Given the description of an element on the screen output the (x, y) to click on. 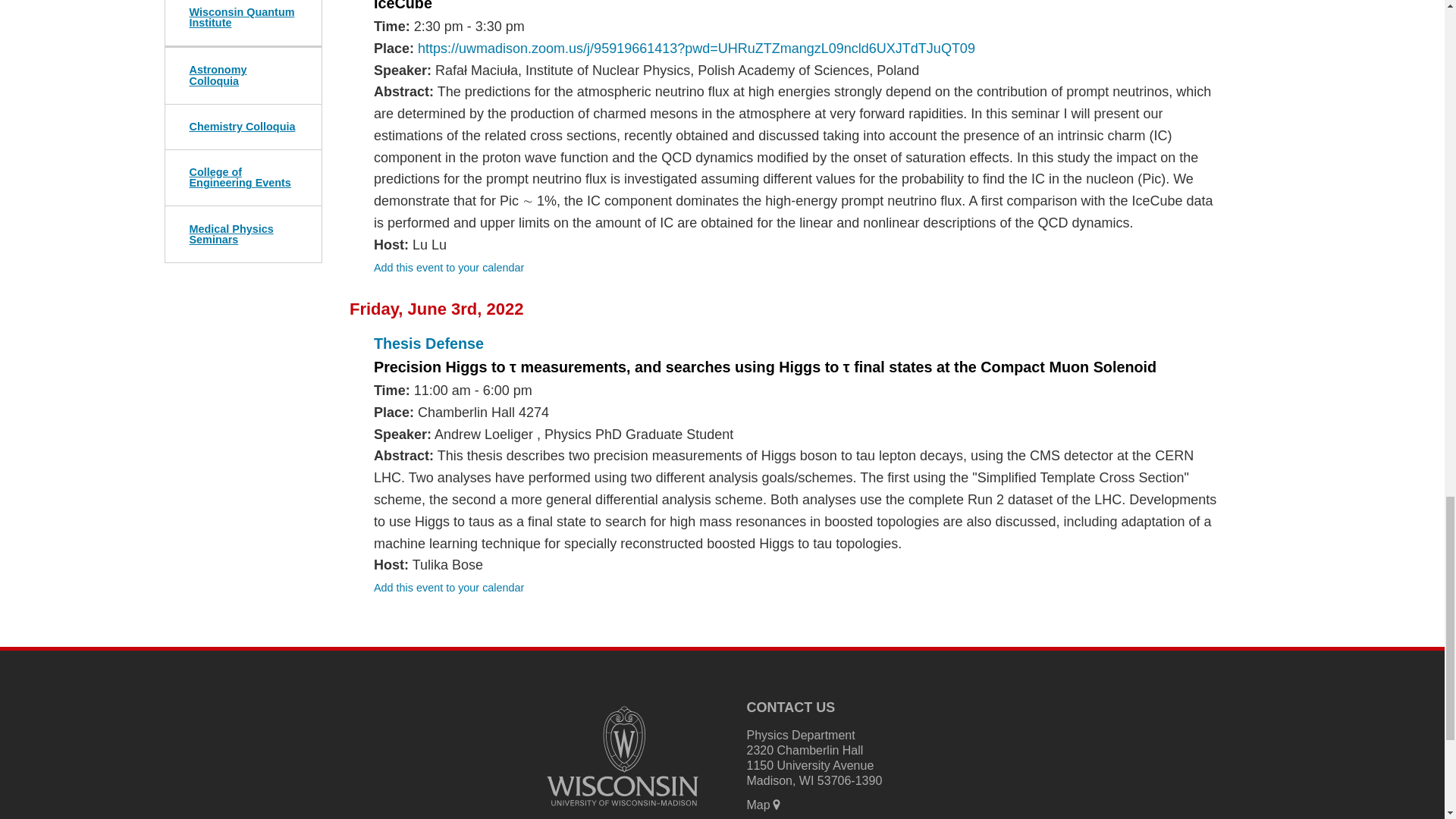
University logo that links to main university website (621, 756)
map marker (776, 804)
